Given the description of an element on the screen output the (x, y) to click on. 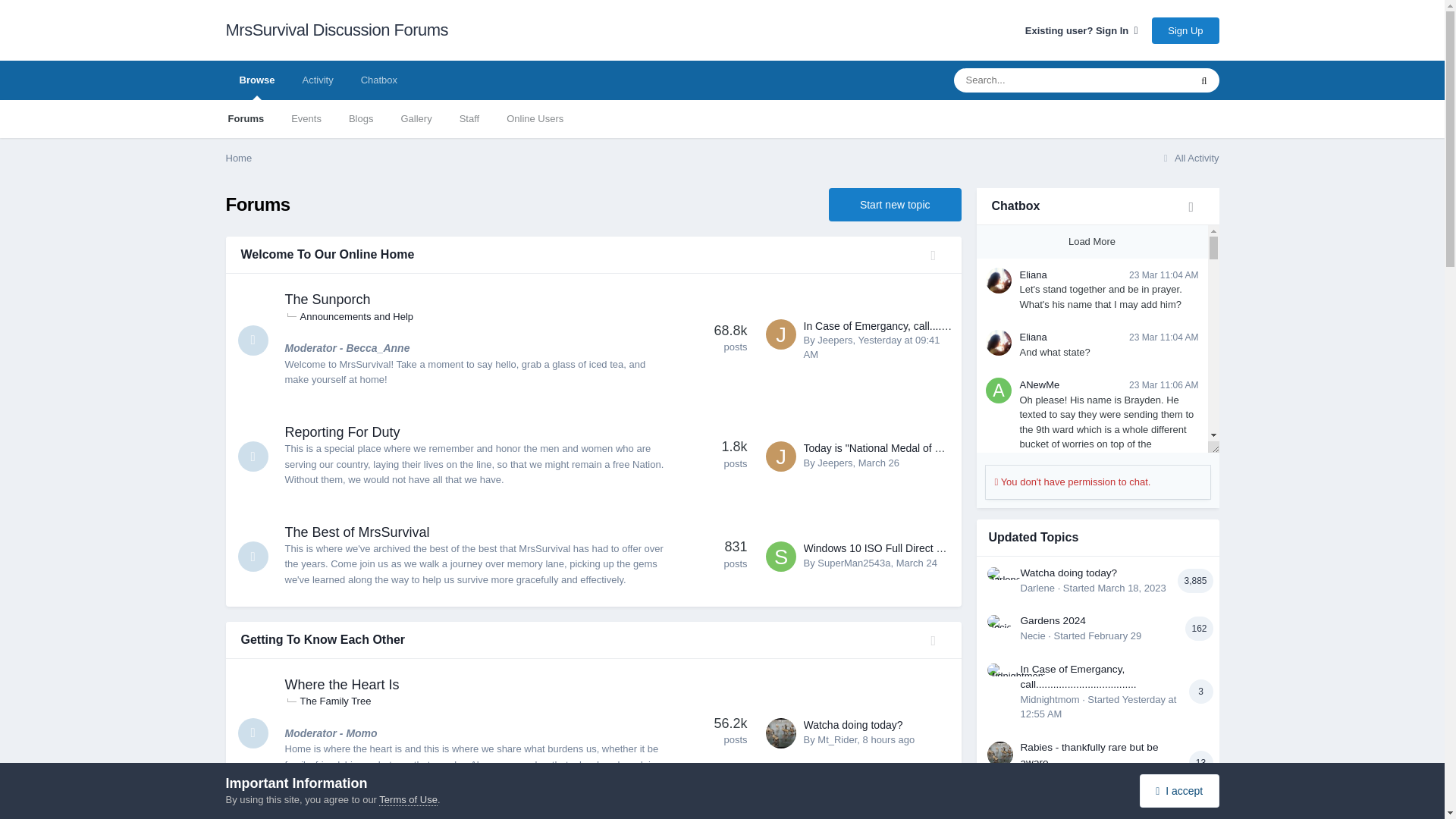
Gallery (416, 118)
Activity (317, 79)
Home (238, 157)
Today is "National Medal of Honor Day" (896, 448)
Events (306, 118)
Toggle this category (938, 255)
Home (238, 157)
Go to Jeepers's profile (780, 334)
Toggle this category (938, 641)
Browse (256, 79)
